Given the description of an element on the screen output the (x, y) to click on. 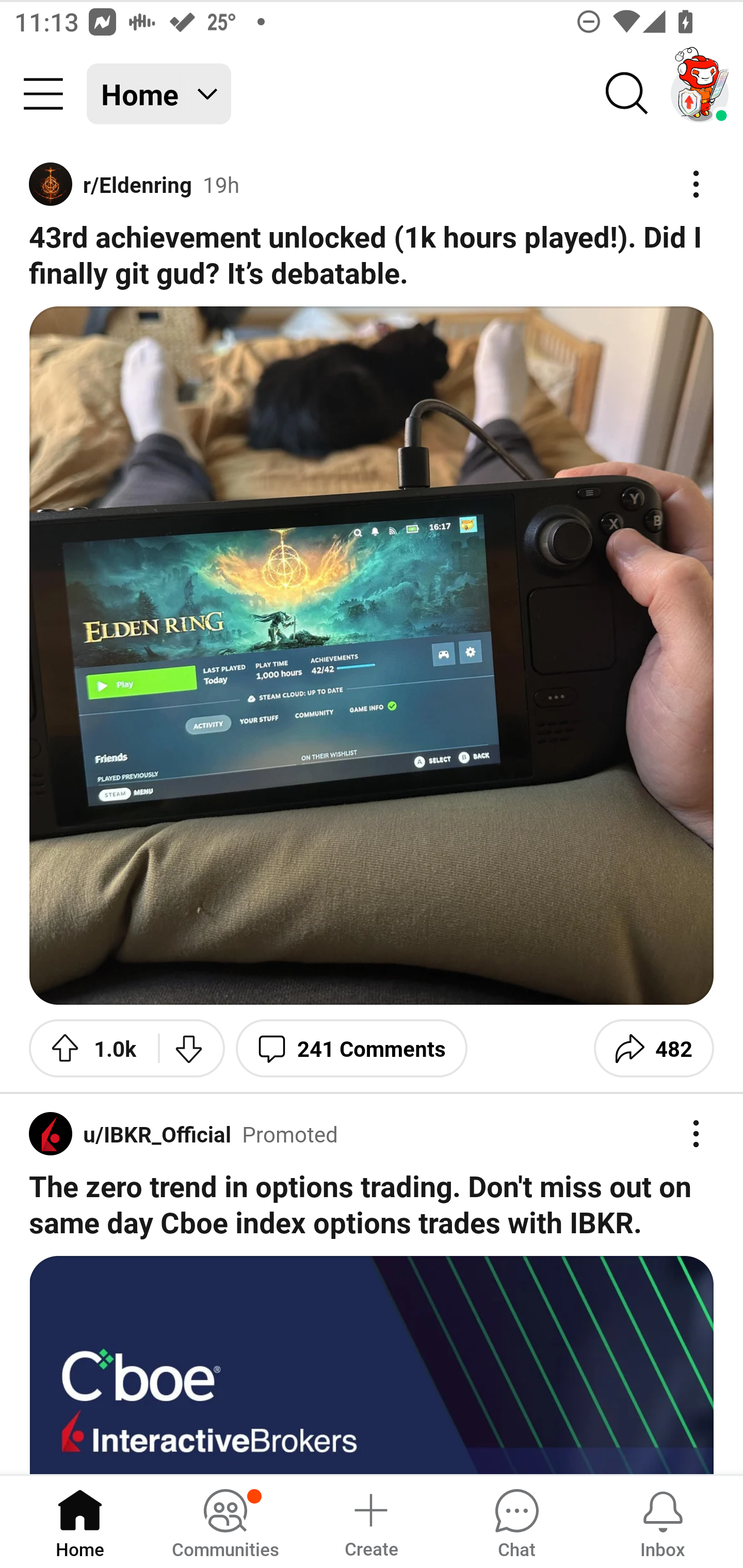
Community menu (43, 93)
Home Home feed (158, 93)
Search (626, 93)
TestAppium002 account (699, 93)
Home (80, 1520)
Communities, has notifications Communities (225, 1520)
Create a post Create (370, 1520)
Chat (516, 1520)
Inbox (662, 1520)
